Given the description of an element on the screen output the (x, y) to click on. 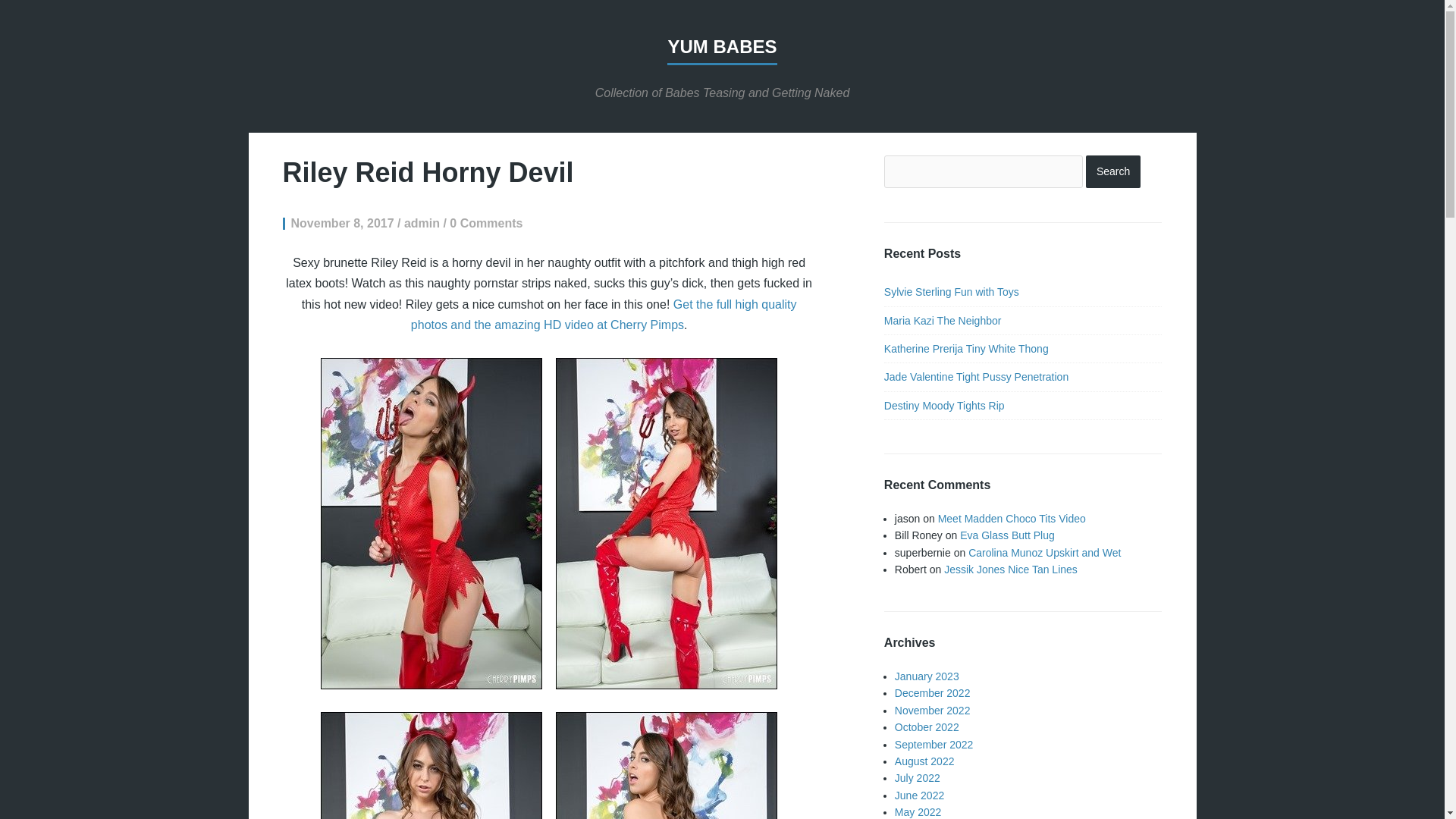
Katherine Prerija Tiny White Thong (965, 348)
Jessik Jones Nice Tan Lines (1010, 569)
July 2022 (917, 777)
Carolina Munoz Upskirt and Wet (1044, 552)
Destiny Moody Tights Rip (943, 405)
Eva Glass Butt Plug (1006, 535)
September 2022 (934, 744)
Sylvie Sterling Fun with Toys (951, 291)
May 2022 (917, 811)
Search (1113, 171)
November 2022 (933, 710)
Search (1113, 171)
Search (1113, 171)
Riley Reid Horny Devil (427, 172)
